Given the description of an element on the screen output the (x, y) to click on. 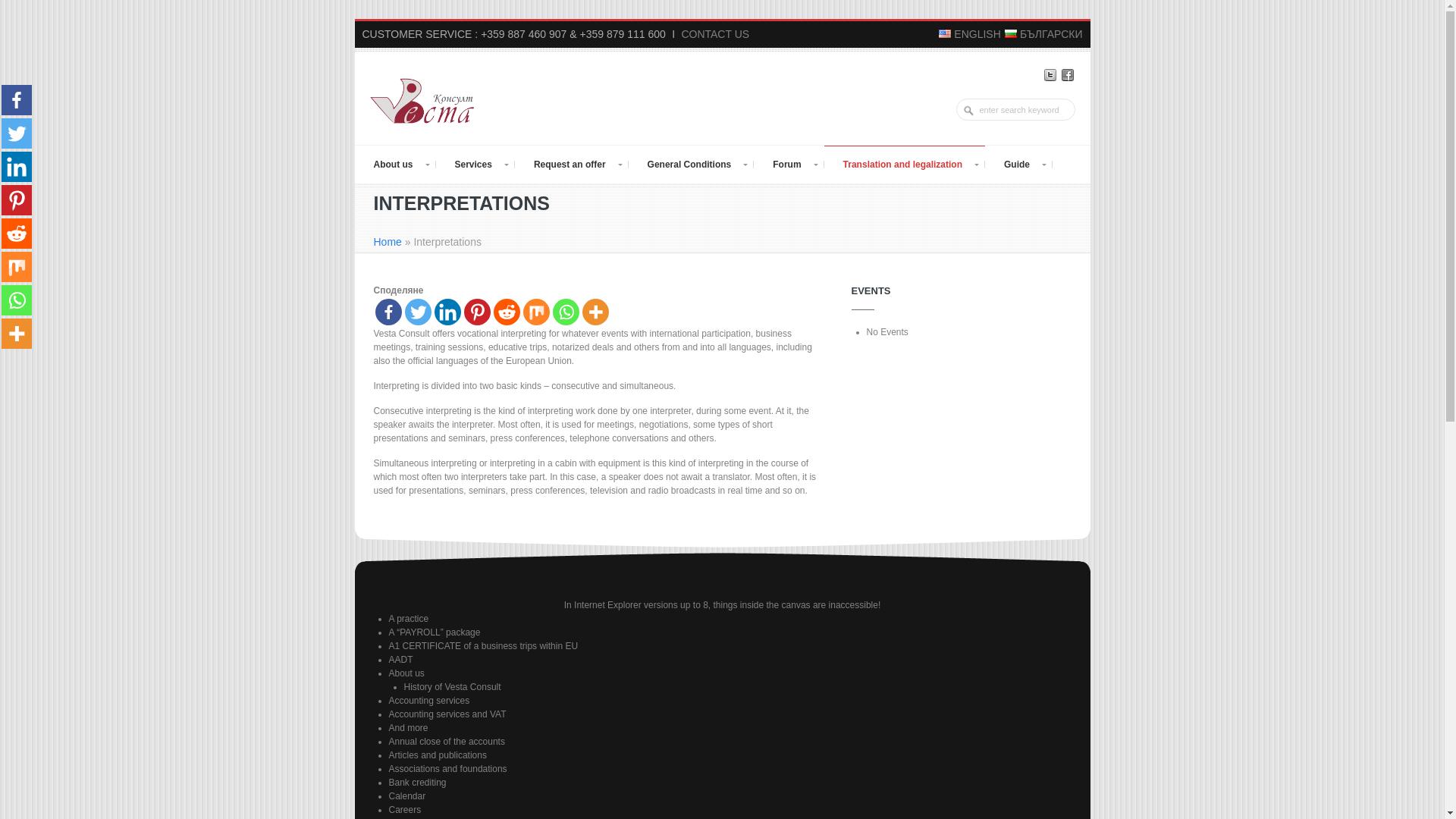
Twitter (1050, 74)
search (970, 110)
Mix (536, 311)
Whatsapp (564, 311)
ENGLISH (970, 33)
More (595, 311)
Services (474, 163)
Twitter (417, 311)
About us (395, 163)
Linkedin (446, 311)
